Given the description of an element on the screen output the (x, y) to click on. 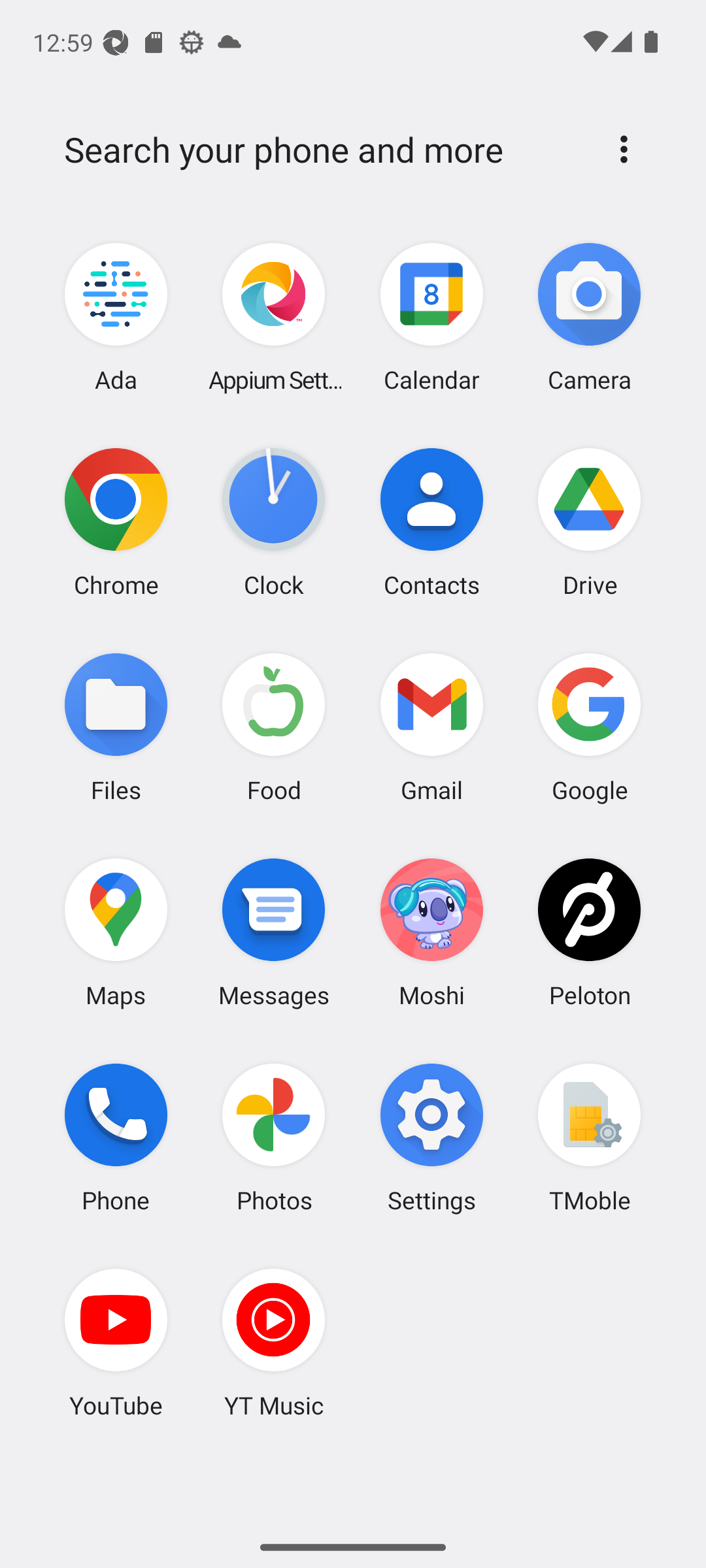
Search your phone and more (321, 149)
Preferences (623, 149)
Ada (115, 317)
Appium Settings (273, 317)
Calendar (431, 317)
Camera (589, 317)
Chrome (115, 522)
Clock (273, 522)
Contacts (431, 522)
Drive (589, 522)
Files (115, 726)
Food (273, 726)
Gmail (431, 726)
Google (589, 726)
Maps (115, 931)
Messages (273, 931)
Moshi (431, 931)
Peloton (589, 931)
Phone (115, 1137)
Photos (273, 1137)
Settings (431, 1137)
TMoble (589, 1137)
YouTube (115, 1342)
YT Music (273, 1342)
